Given the description of an element on the screen output the (x, y) to click on. 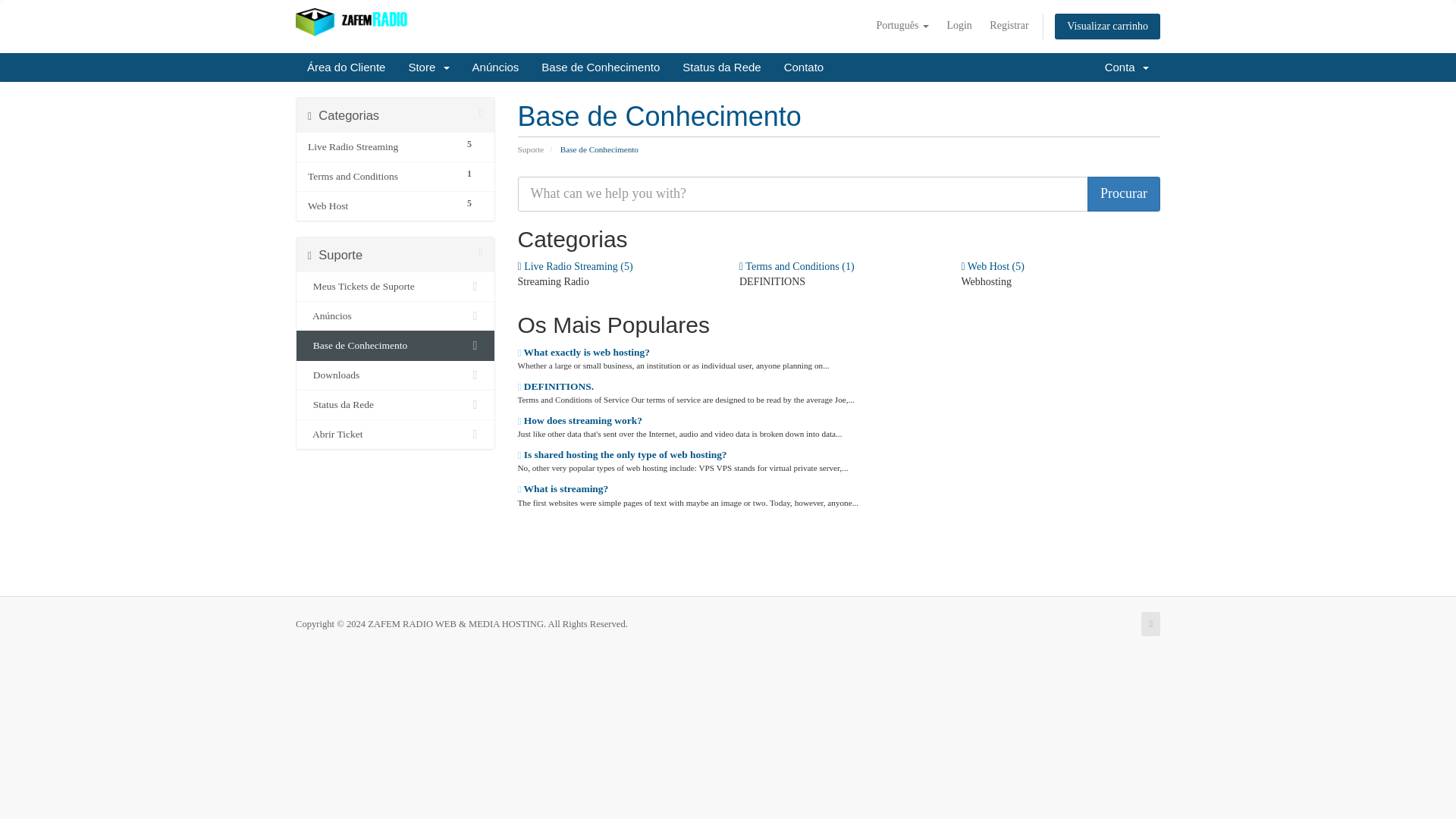
Registrar (1008, 25)
Visualizar carrinho (1107, 26)
Store   (428, 67)
Procurar (1123, 193)
Login (958, 25)
